Given the description of an element on the screen output the (x, y) to click on. 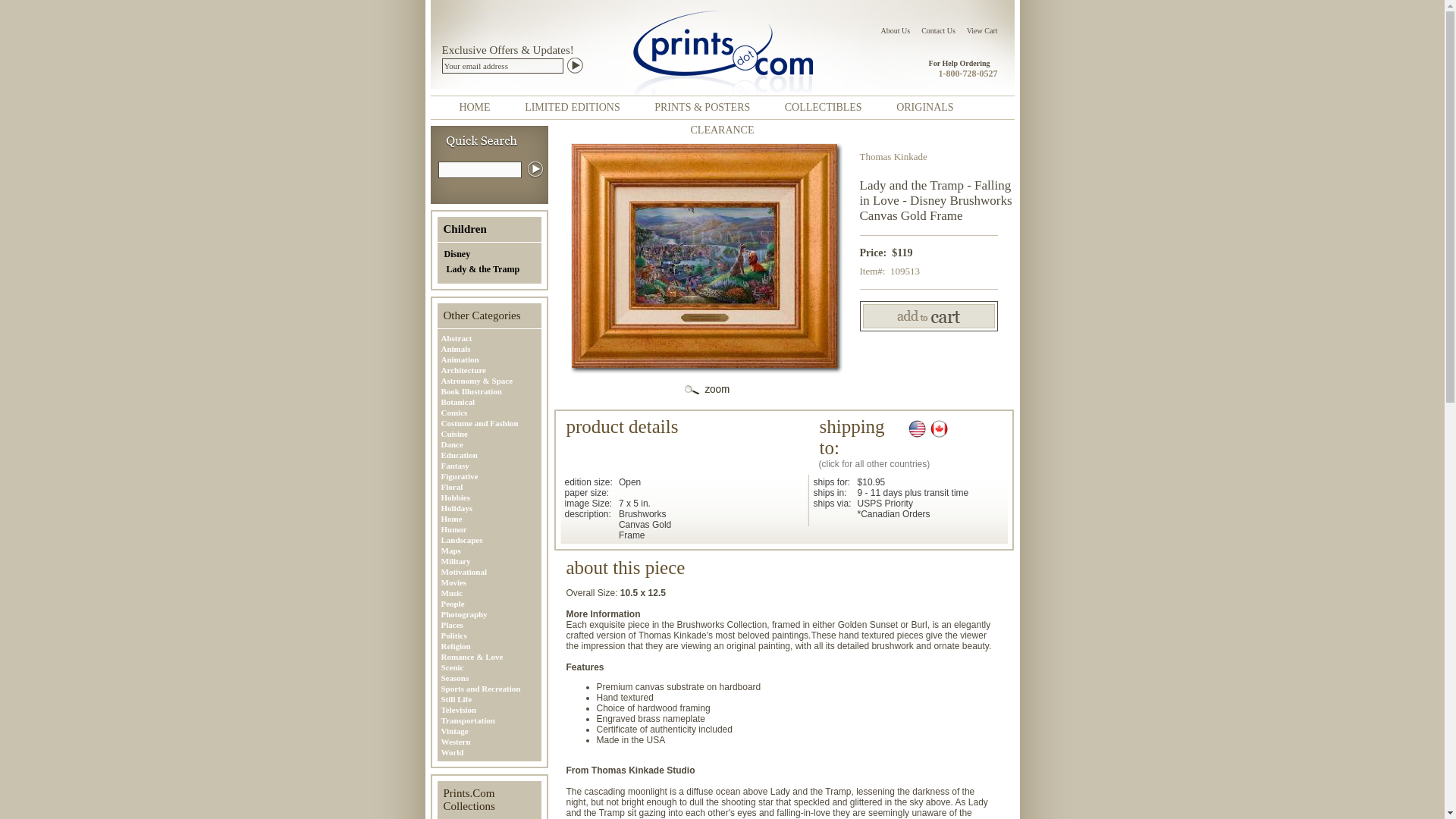
Home (489, 518)
Dance (489, 443)
Disney (492, 254)
Botanical (489, 401)
View Cart (981, 30)
Cuisine (489, 433)
Humor (489, 529)
HOME (473, 107)
Book Illustration (489, 390)
Comics (489, 412)
Hobbies (489, 497)
Photography (489, 614)
Movies (489, 582)
Maps (489, 550)
Education (489, 454)
